Given the description of an element on the screen output the (x, y) to click on. 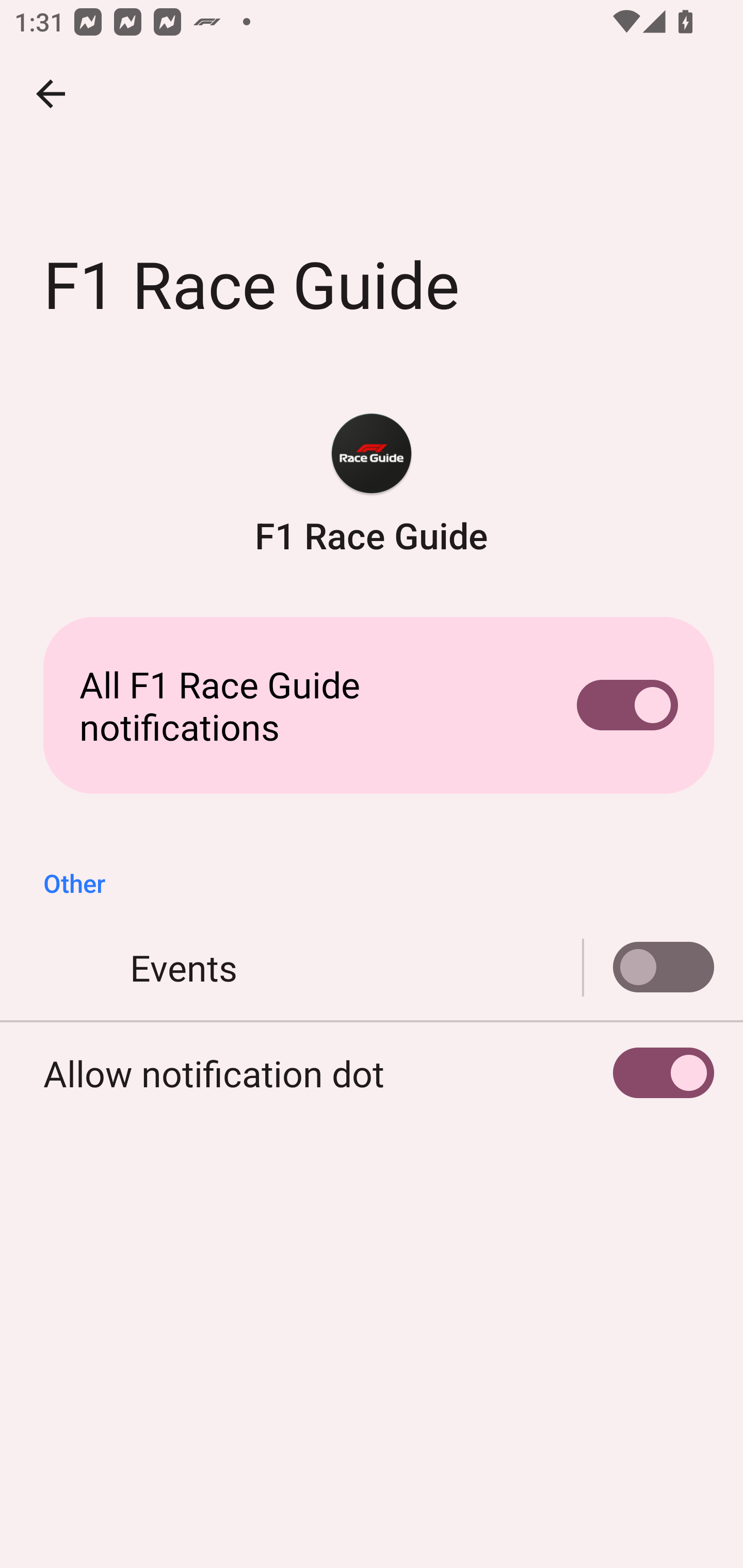
Navigate up (50, 93)
F1 Race Guide (371, 484)
All F1 Race Guide notifications (371, 705)
Events (371, 967)
Events (648, 967)
Allow notification dot (371, 1072)
